Given the description of an element on the screen output the (x, y) to click on. 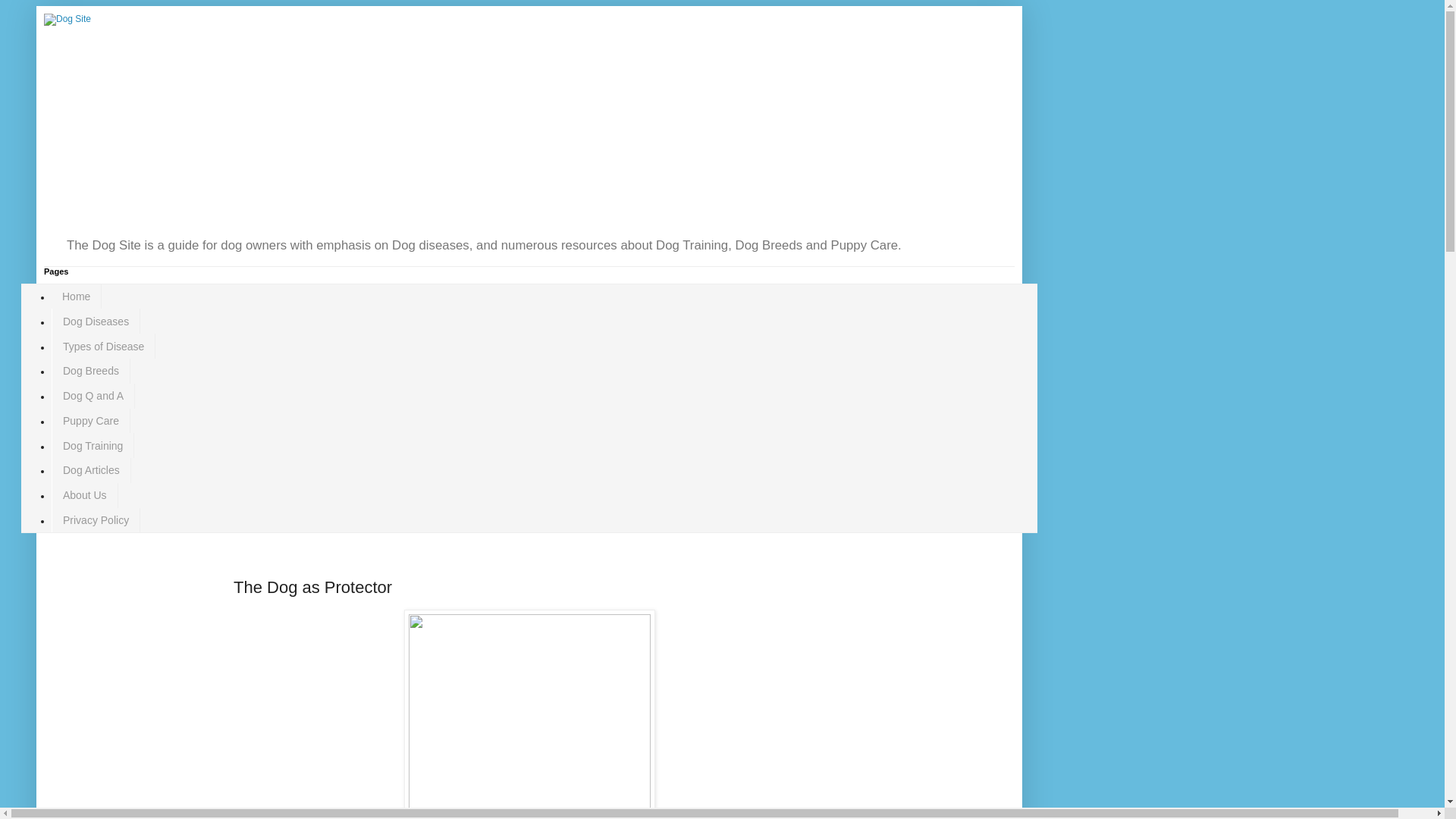
Home (75, 296)
Dog Breeds (90, 371)
About Us (83, 495)
Dog Training (91, 445)
Dog Q and A (92, 396)
Dog Diseases (94, 320)
Privacy Policy (94, 520)
Dog Articles (90, 470)
Types of Disease (102, 345)
Puppy Care (90, 420)
